Given the description of an element on the screen output the (x, y) to click on. 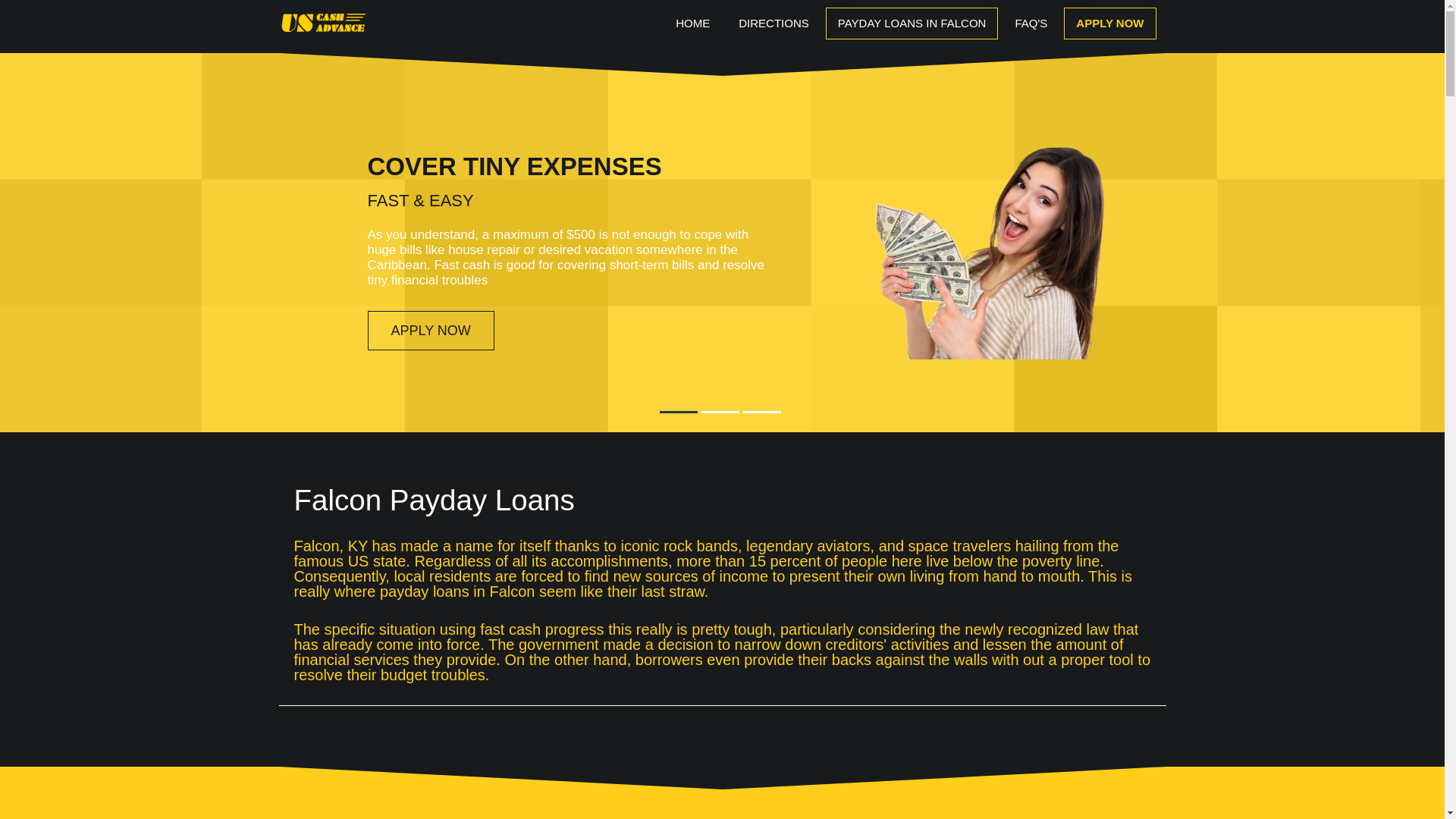
HOME (692, 23)
PAYDAY LOANS IN FALCON (911, 23)
DIRECTIONS (773, 23)
APPLY NOW (429, 330)
FAQ'S (1031, 23)
APPLY NOW (1110, 23)
